Given the description of an element on the screen output the (x, y) to click on. 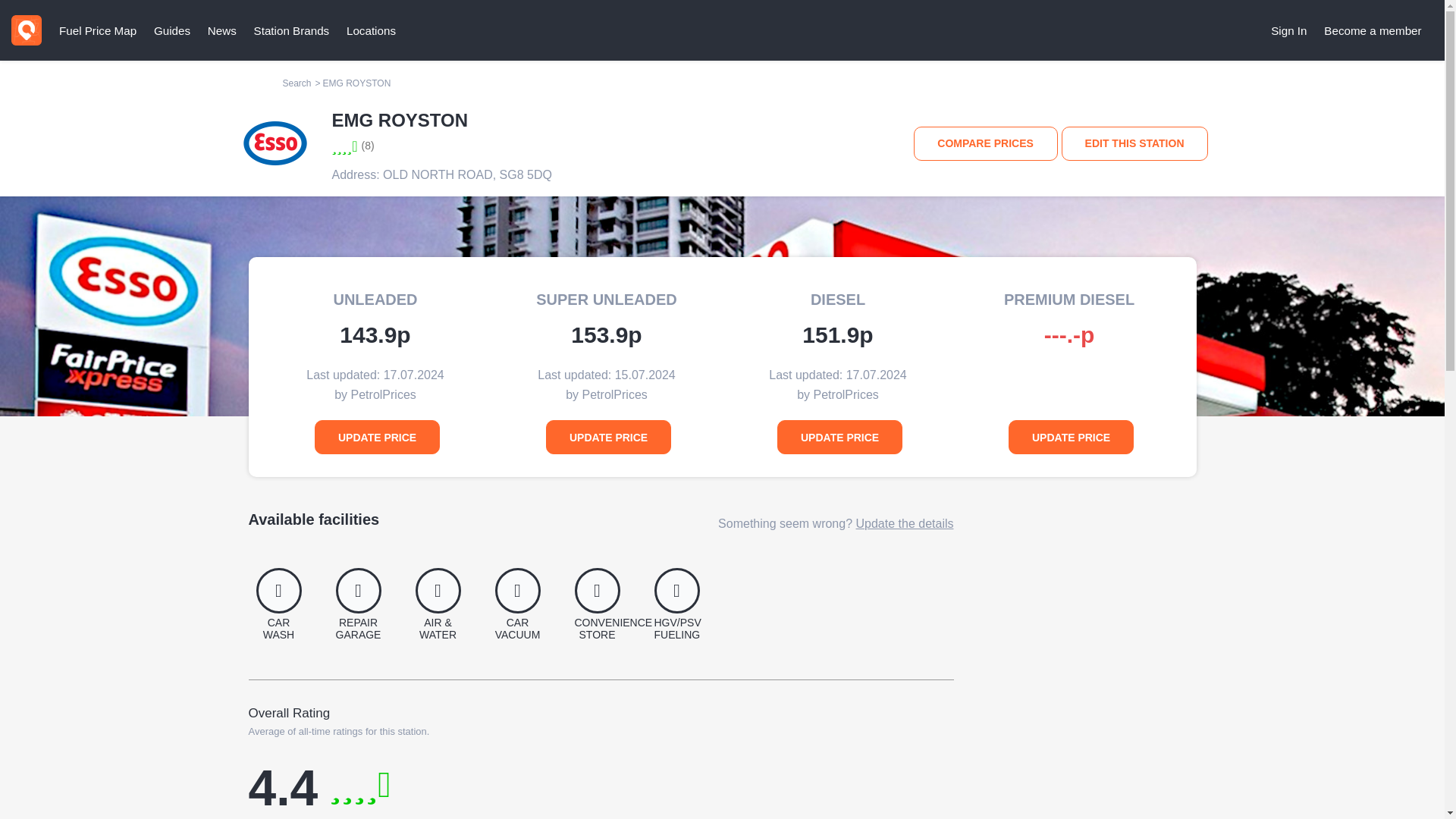
Search (296, 82)
UPDATE PRICE (839, 437)
Station Brands (290, 30)
UPDATE PRICE (1071, 437)
Fuel Price Map (96, 30)
Locations (370, 30)
Update the details (904, 522)
Sign In (1289, 30)
Guides (171, 30)
Become a member (1373, 30)
News (221, 30)
UPDATE PRICE (376, 437)
UPDATE PRICE (608, 437)
COMPARE PRICES (986, 143)
EDIT THIS STATION (1134, 143)
